Given the description of an element on the screen output the (x, y) to click on. 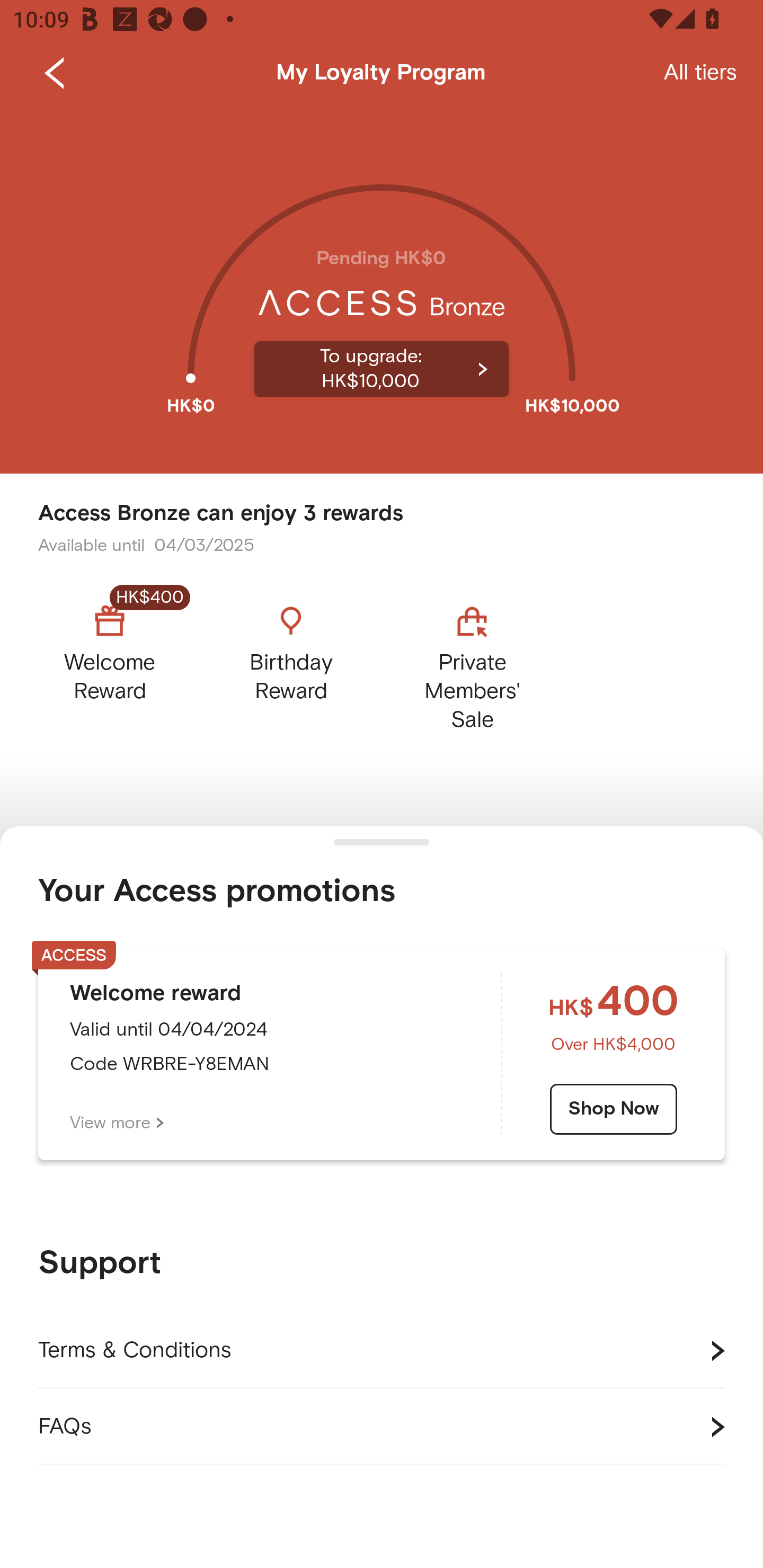
All tiers (700, 72)
HK$0 HK$10,000 Pending HK$0 To upgrade: HK$10,000 (381, 290)
HK$400 Welcome Reward (125, 662)
Birthday Reward (290, 662)
Private Members' Sale (471, 662)
Shop Now (613, 1109)
View more (117, 1123)
Terms & Conditions (381, 1350)
FAQs (381, 1426)
